Given the description of an element on the screen output the (x, y) to click on. 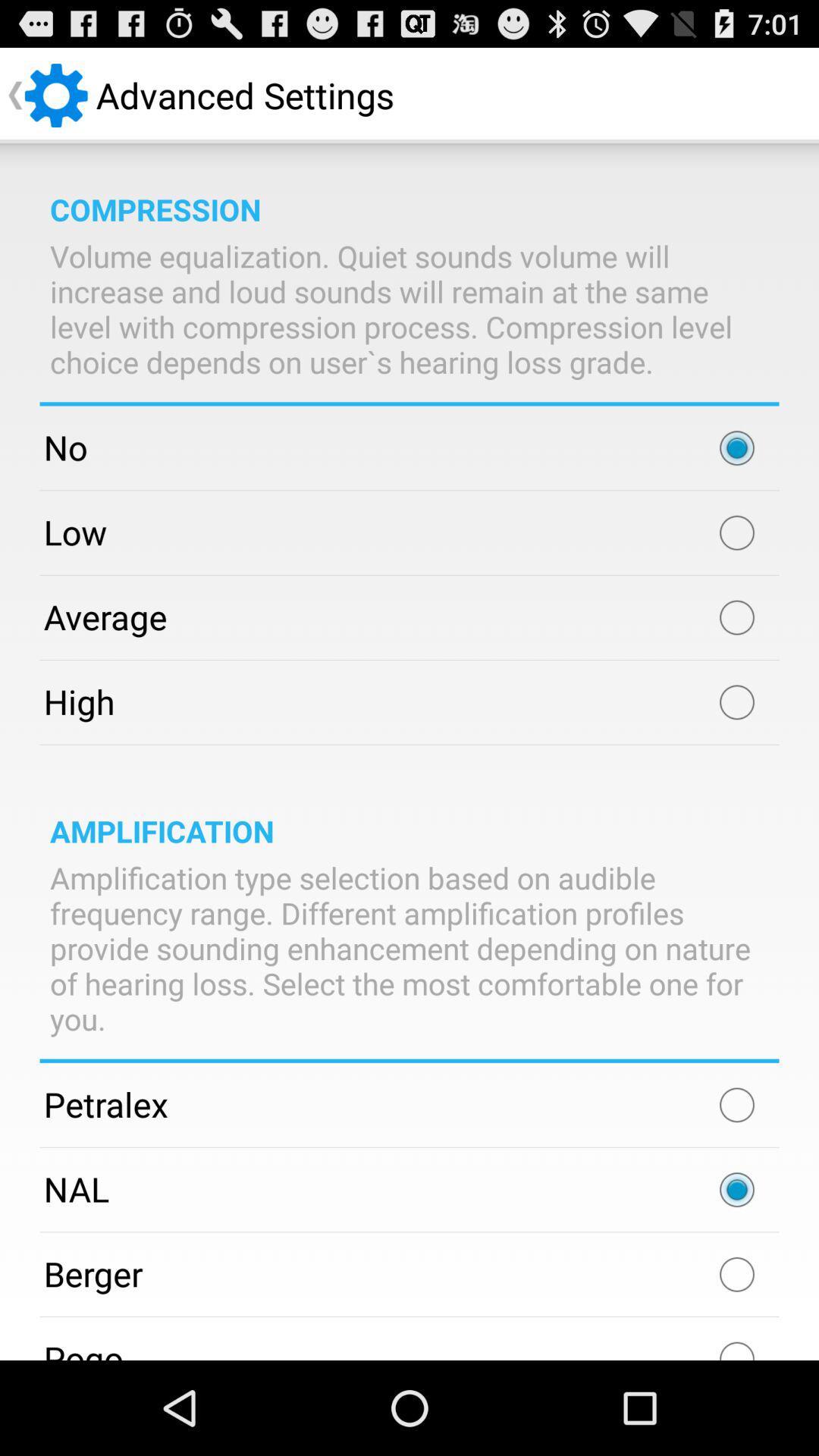
toggle berger (736, 1274)
